Given the description of an element on the screen output the (x, y) to click on. 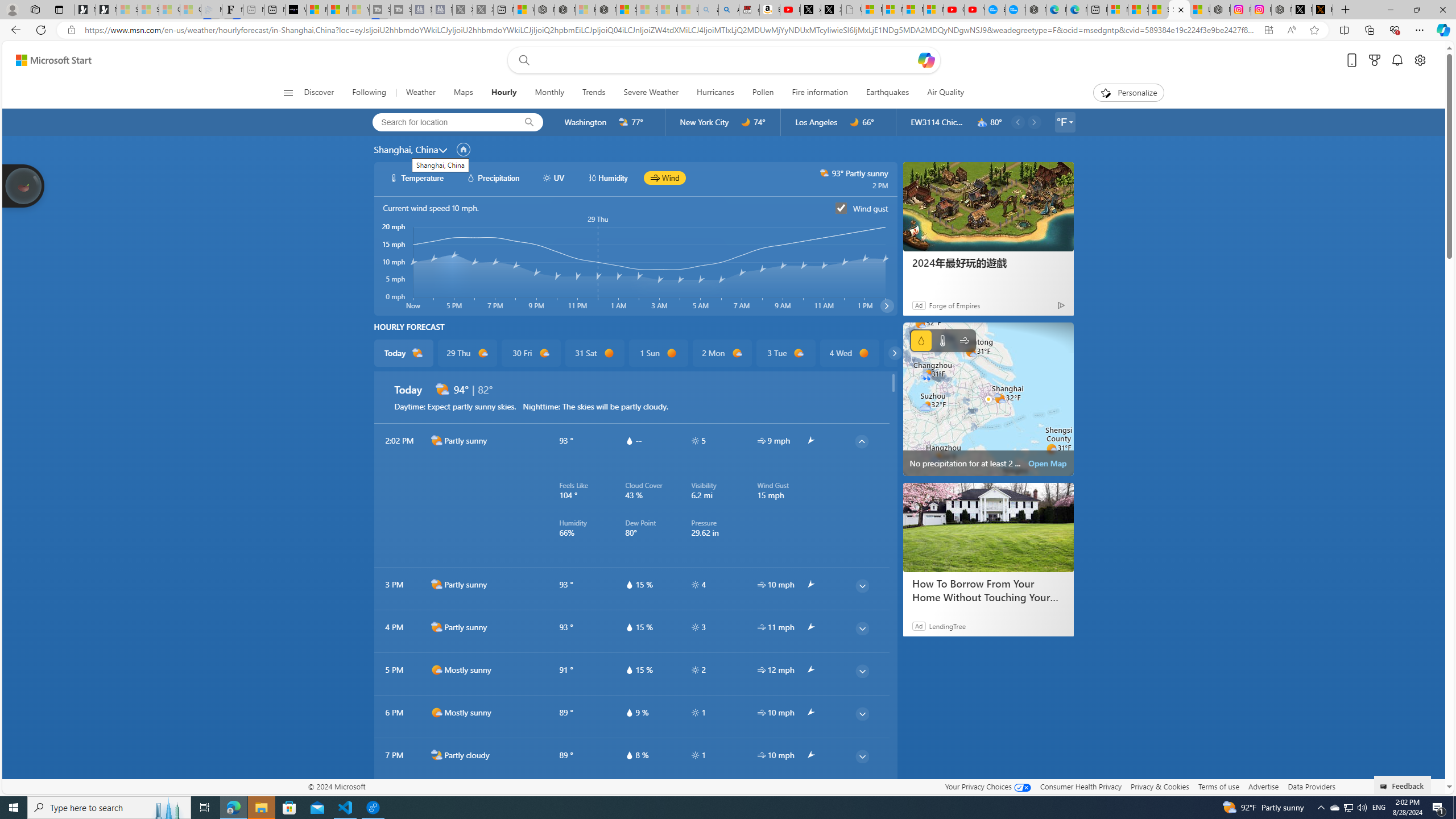
Maps (462, 92)
5 Thu d1000 (913, 352)
hourlyTable/drop (628, 755)
hourlyChart/humidityWhite Humidity (606, 178)
hourlyChart/windBlack Wind (664, 178)
29 Thu d1000 (466, 352)
hourlyChart/precipitationWhite (470, 177)
Skip to footer (46, 59)
